Given the description of an element on the screen output the (x, y) to click on. 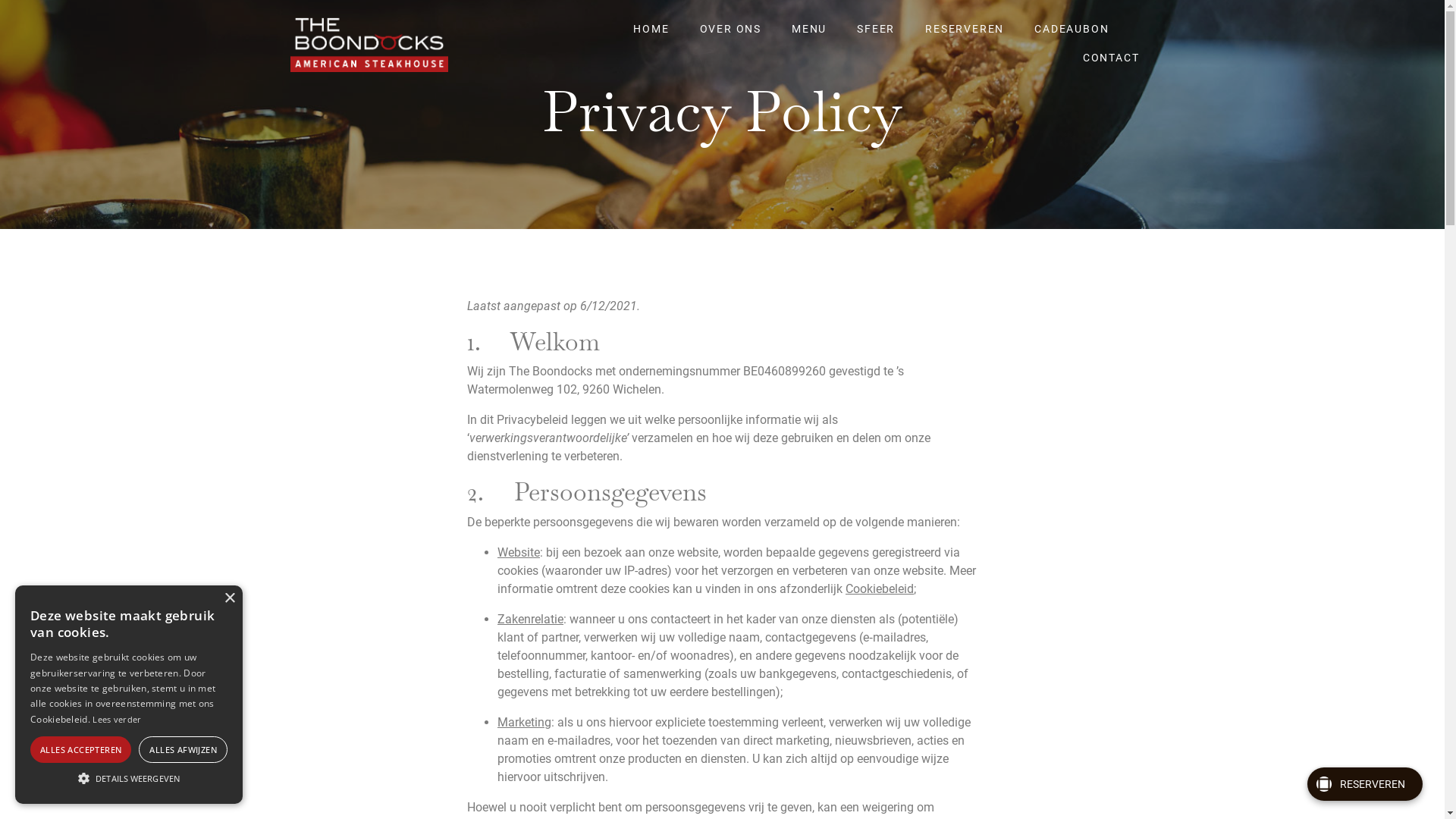
HOME Element type: text (650, 22)
CONTACT Element type: text (1110, 50)
OVER ONS Element type: text (730, 22)
RESERVEREN Element type: text (964, 22)
MENU Element type: text (808, 22)
Lees verder Element type: text (116, 718)
SFEER Element type: text (875, 22)
RESERVEREN Element type: text (1364, 783)
CADEAUBON Element type: text (1071, 22)
